Given the description of an element on the screen output the (x, y) to click on. 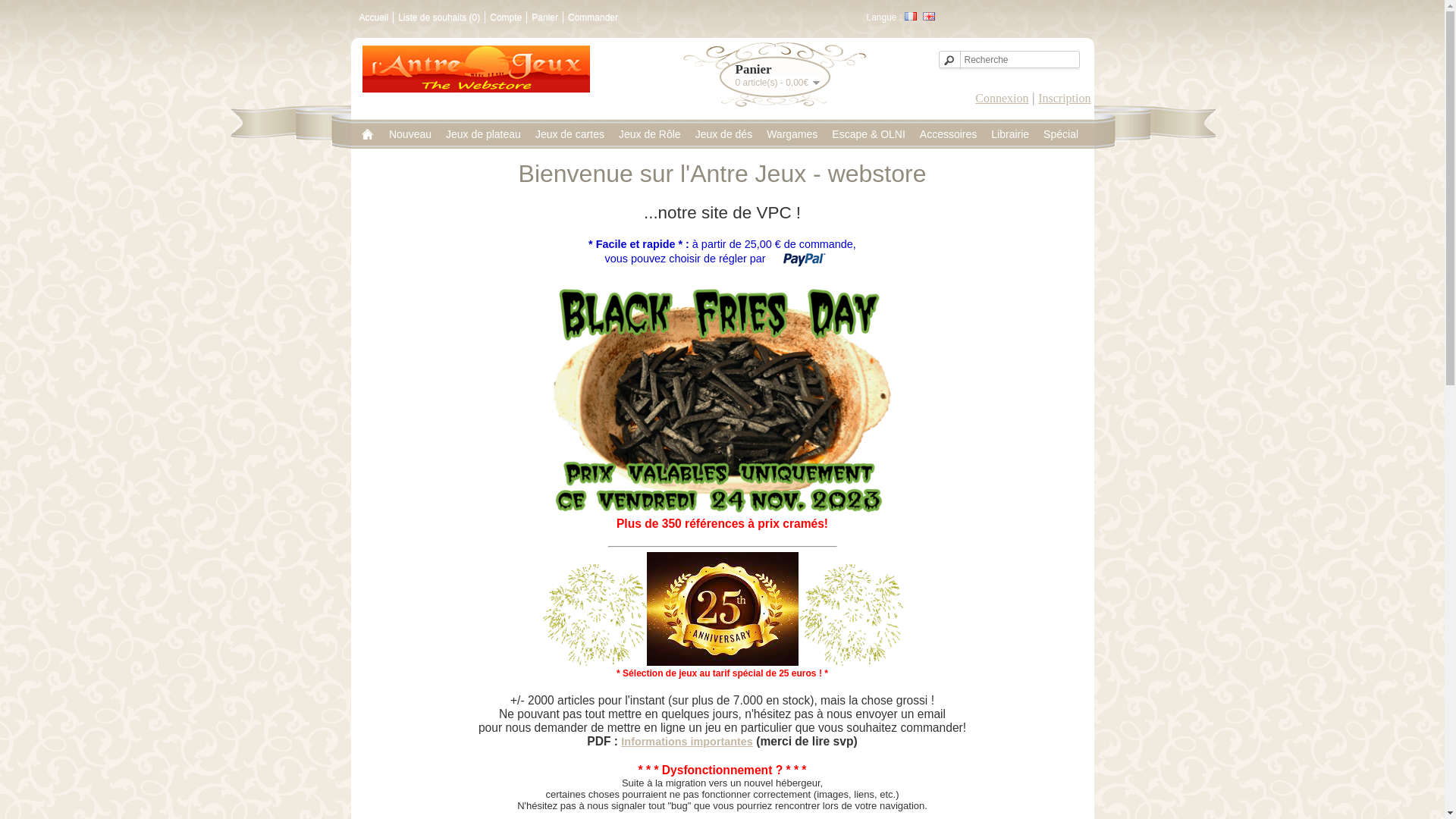
Wargames Element type: text (791, 133)
Jeux de cartes Element type: text (569, 133)
Connexion Element type: text (1001, 97)
Voir les promos! Element type: hover (721, 662)
Commander Element type: text (592, 17)
Jeux de plateau Element type: text (483, 133)
Informations importantes Element type: text (687, 742)
Compte Element type: text (505, 17)
English Element type: hover (928, 16)
l'Antre Jeux - webstore Element type: hover (475, 68)
Accessoires Element type: text (948, 133)
Accueil Element type: text (374, 17)
Panier Element type: text (544, 17)
Escape & OLNI Element type: text (868, 133)
Liste de souhaits (0) Element type: text (439, 17)
Inscription Element type: text (1064, 97)
Librairie Element type: text (1009, 133)
Nouveau Element type: text (409, 133)
